Given the description of an element on the screen output the (x, y) to click on. 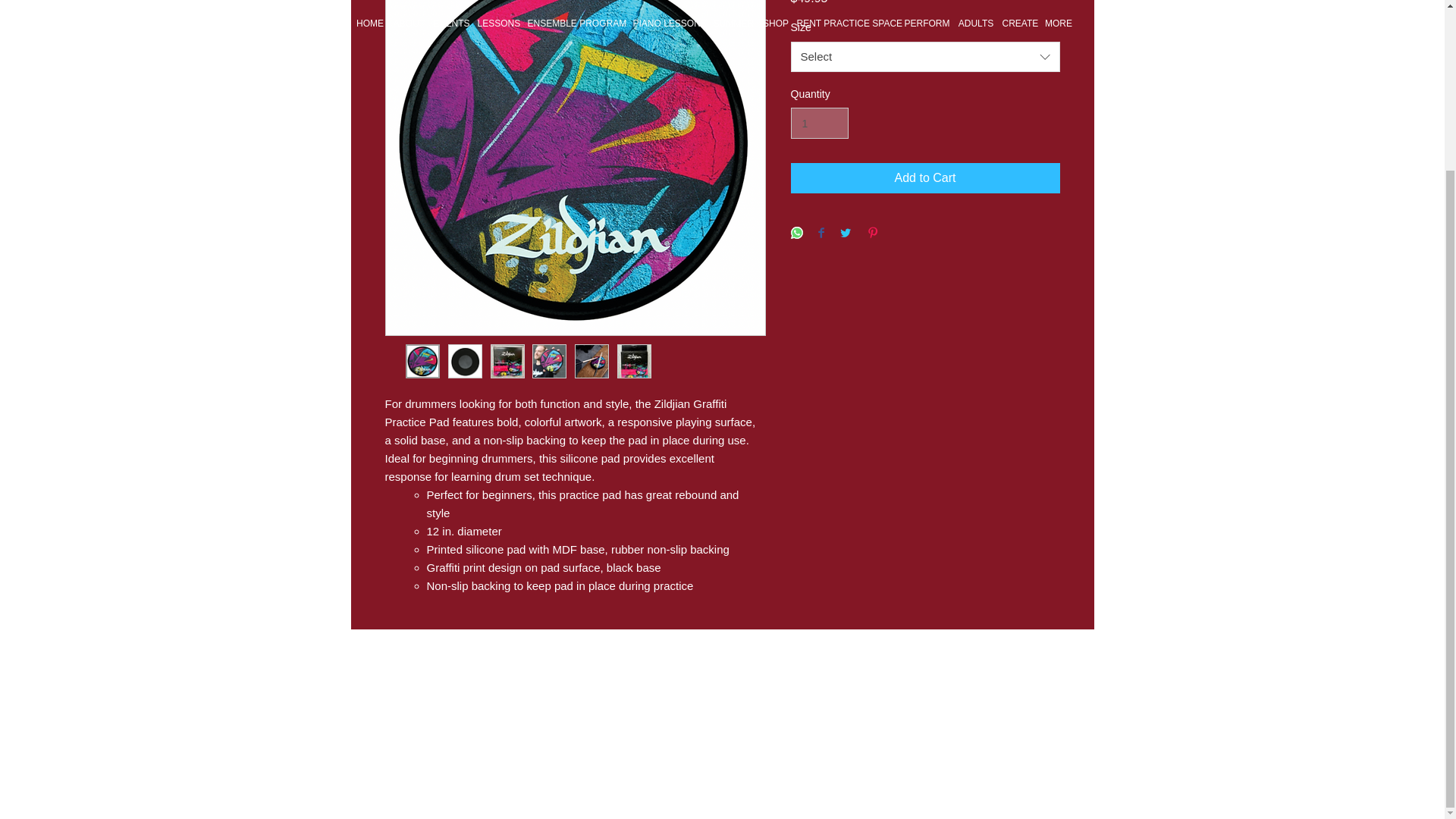
Add to Cart (924, 177)
Select (924, 56)
1 (818, 122)
